Given the description of an element on the screen output the (x, y) to click on. 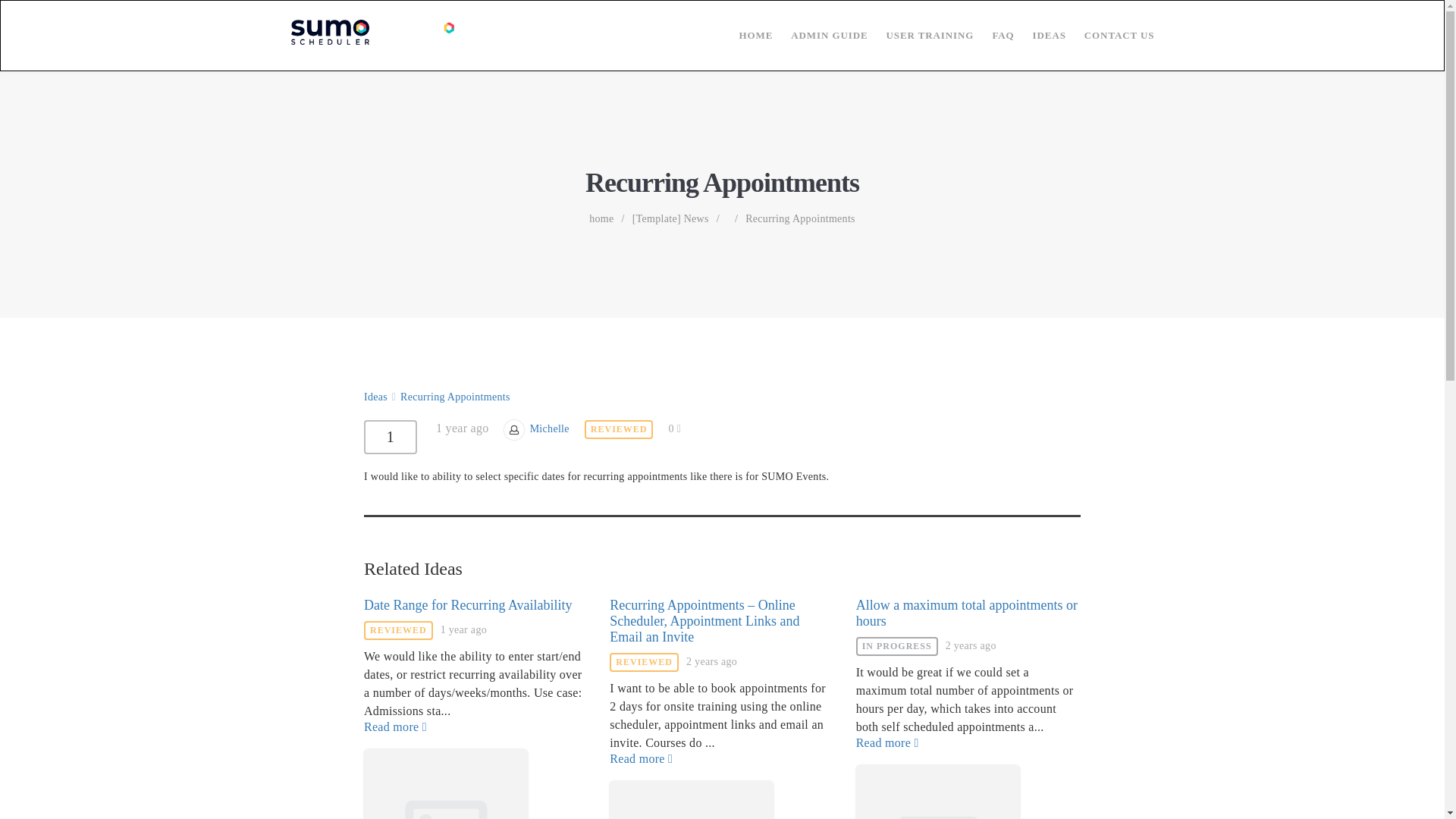
Allow a maximum total appointments or hours (966, 612)
Read more (476, 726)
Michelle (549, 428)
Date Range for Recurring Availability (468, 604)
ADMIN GUIDE (820, 35)
CONTACT US (1109, 35)
home (600, 218)
USER TRAINING (920, 35)
Recurring Appointments (800, 218)
Ideas (375, 396)
